Given the description of an element on the screen output the (x, y) to click on. 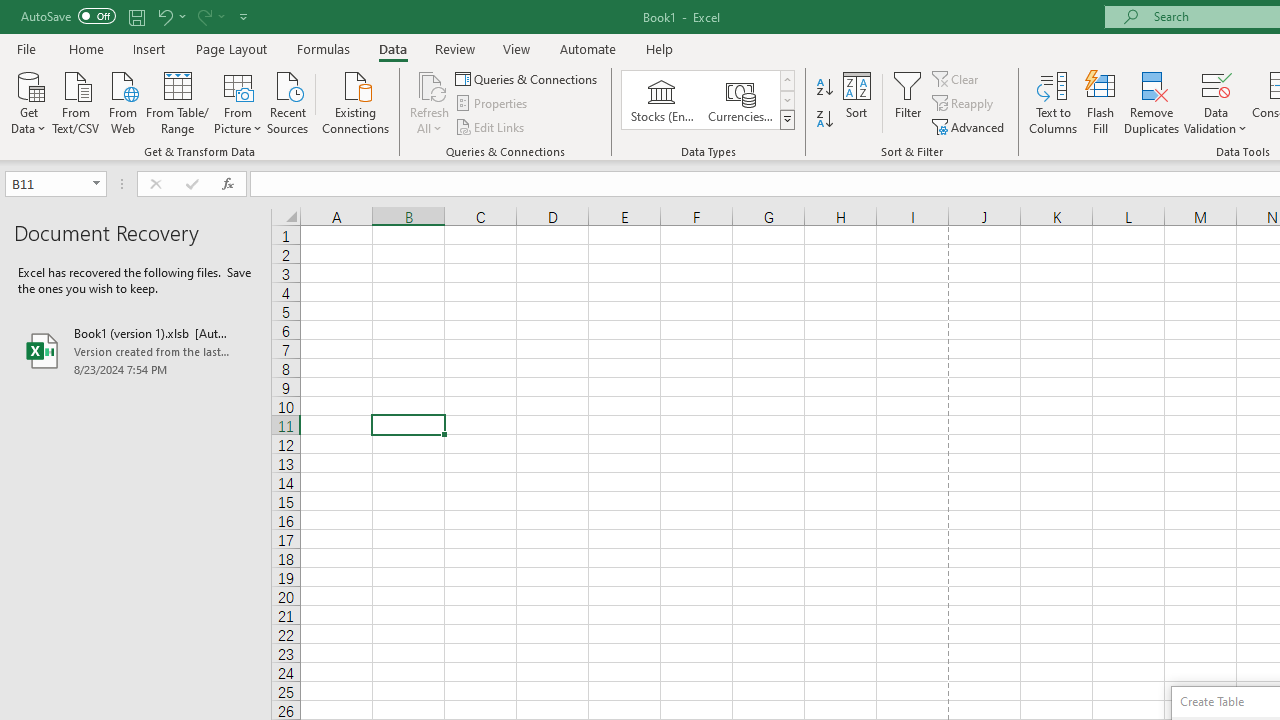
From Table/Range (177, 101)
Sort... (856, 102)
Properties (492, 103)
Sort Z to A (824, 119)
Filter (908, 102)
From Text/CSV (75, 101)
Data Types (786, 120)
Existing Connections (355, 101)
Get Data (28, 101)
